Given the description of an element on the screen output the (x, y) to click on. 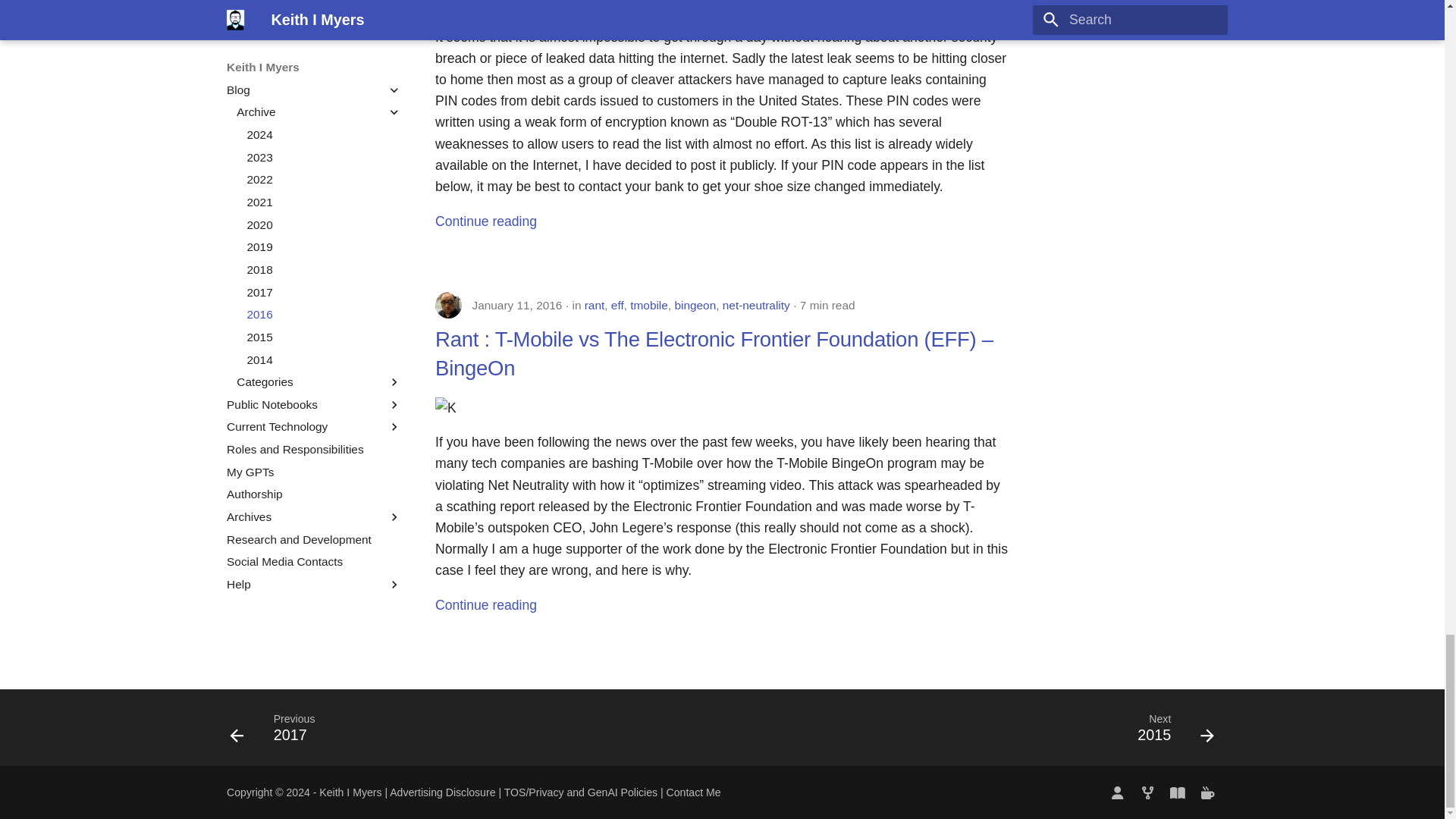
ChromeOS Guide (1177, 791)
Buy Me A Coffee (1207, 791)
KMyers.me (1117, 791)
